Given the description of an element on the screen output the (x, y) to click on. 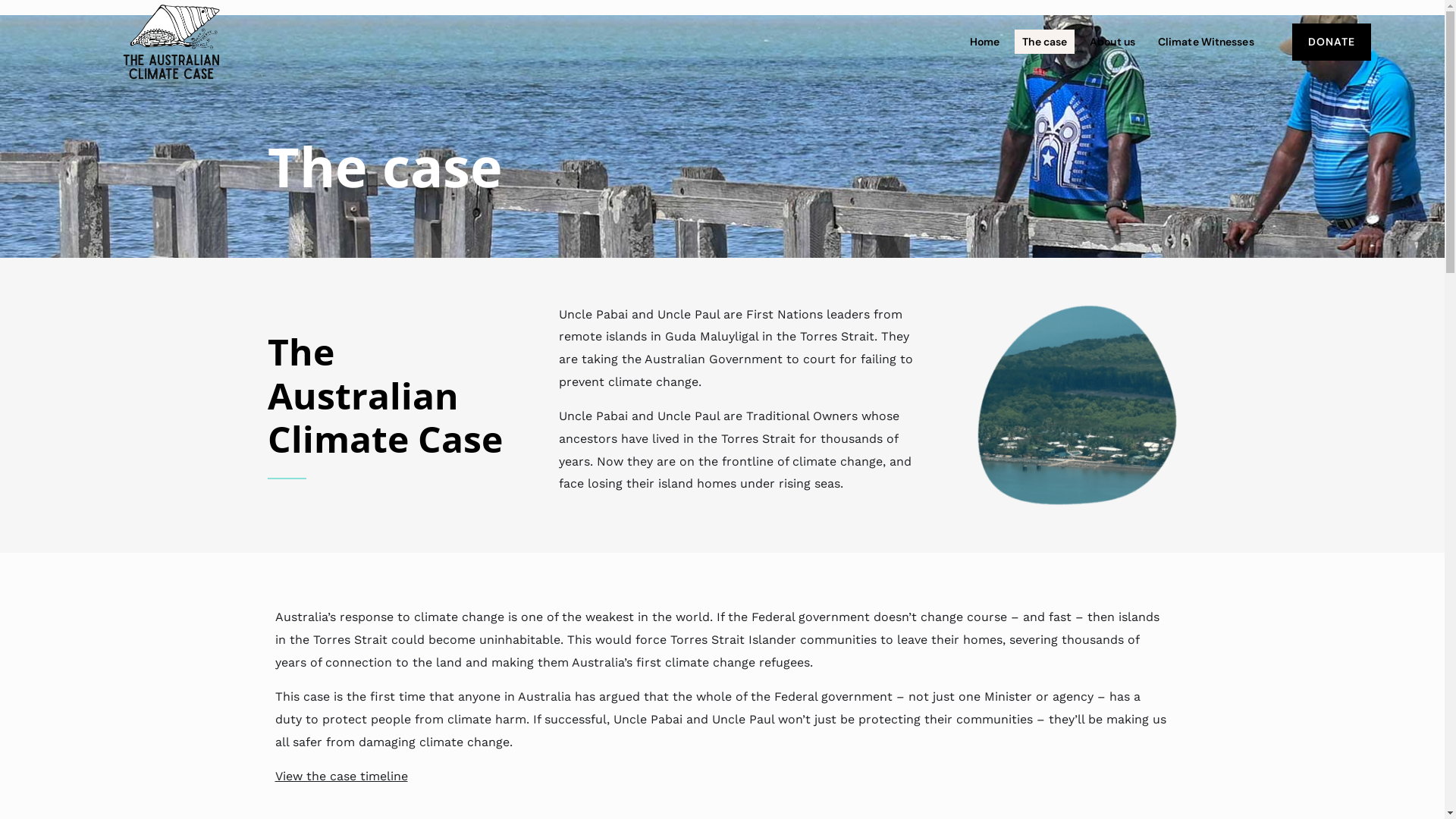
Home Element type: text (984, 41)
The case Element type: text (1044, 41)
View the case timeline Element type: text (340, 775)
DONATE Element type: text (1331, 41)
About us Element type: text (1112, 41)
Climate Witnesses Element type: text (1205, 41)
